Given the description of an element on the screen output the (x, y) to click on. 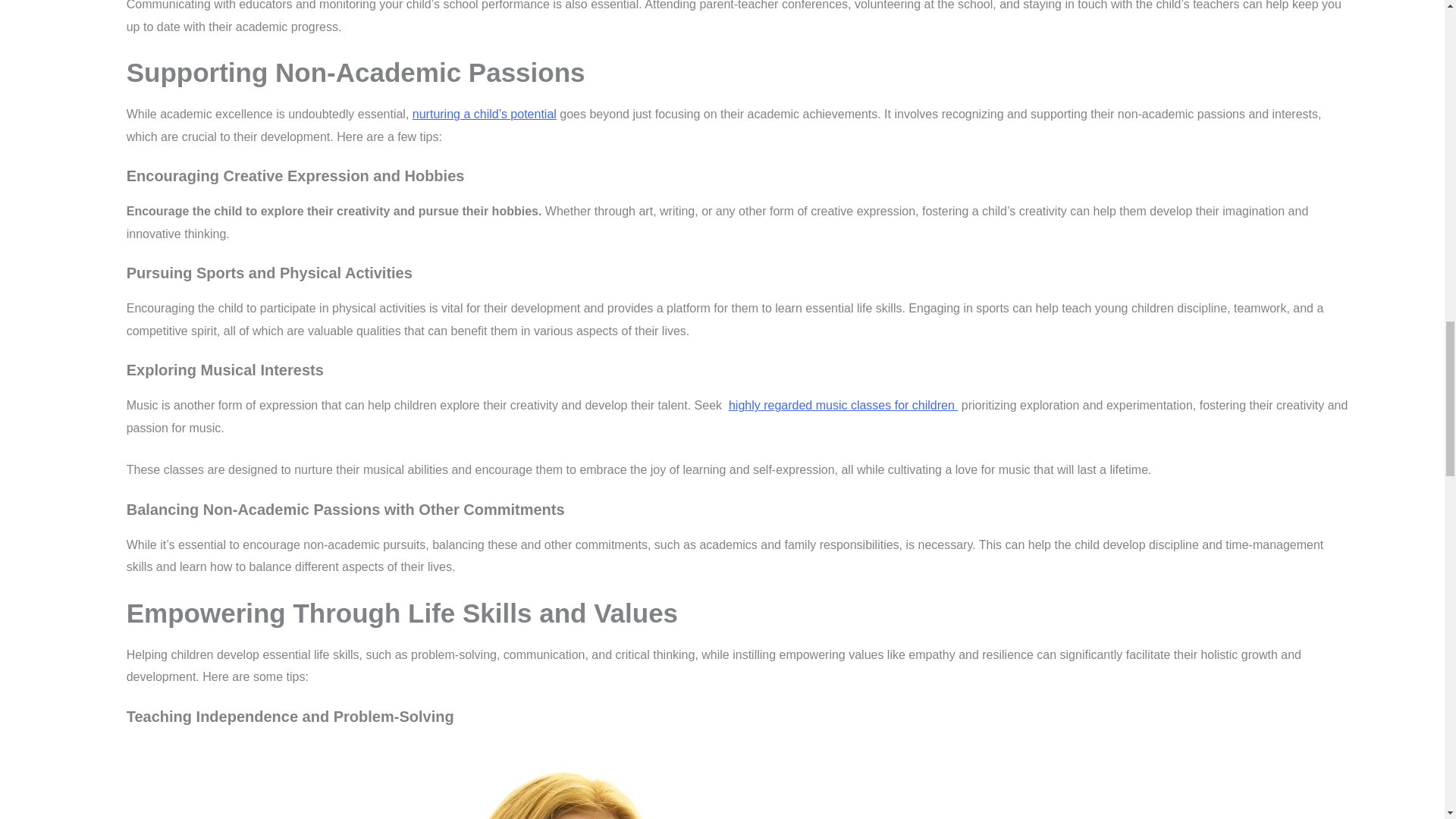
highly regarded music classes for children (843, 404)
